Given the description of an element on the screen output the (x, y) to click on. 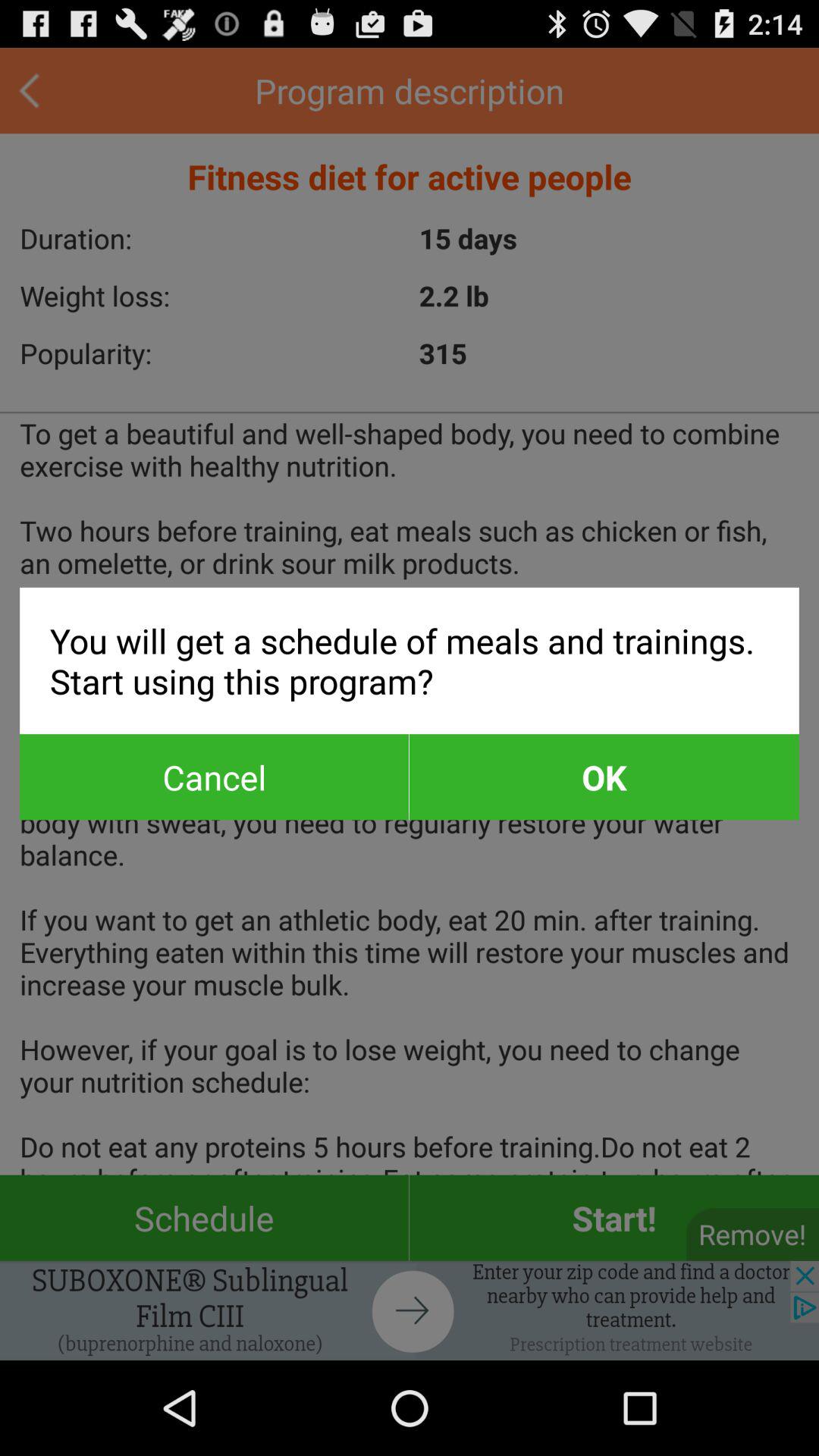
swipe until the cancel button (213, 777)
